Given the description of an element on the screen output the (x, y) to click on. 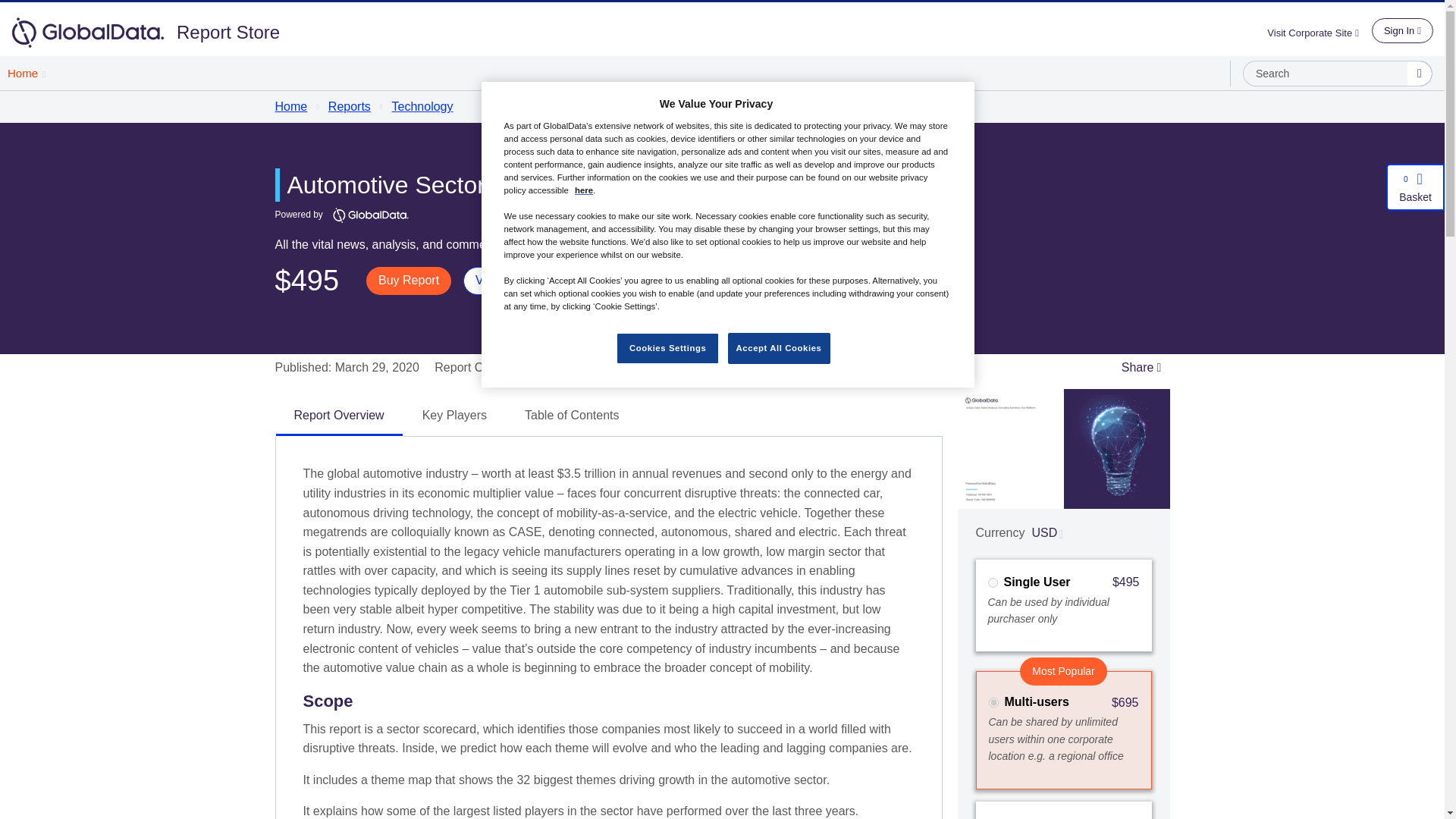
Home (26, 73)
Sign In (1401, 30)
1317670 (992, 583)
1317671 (993, 702)
Visit Corporate Site (1318, 31)
